Given the description of an element on the screen output the (x, y) to click on. 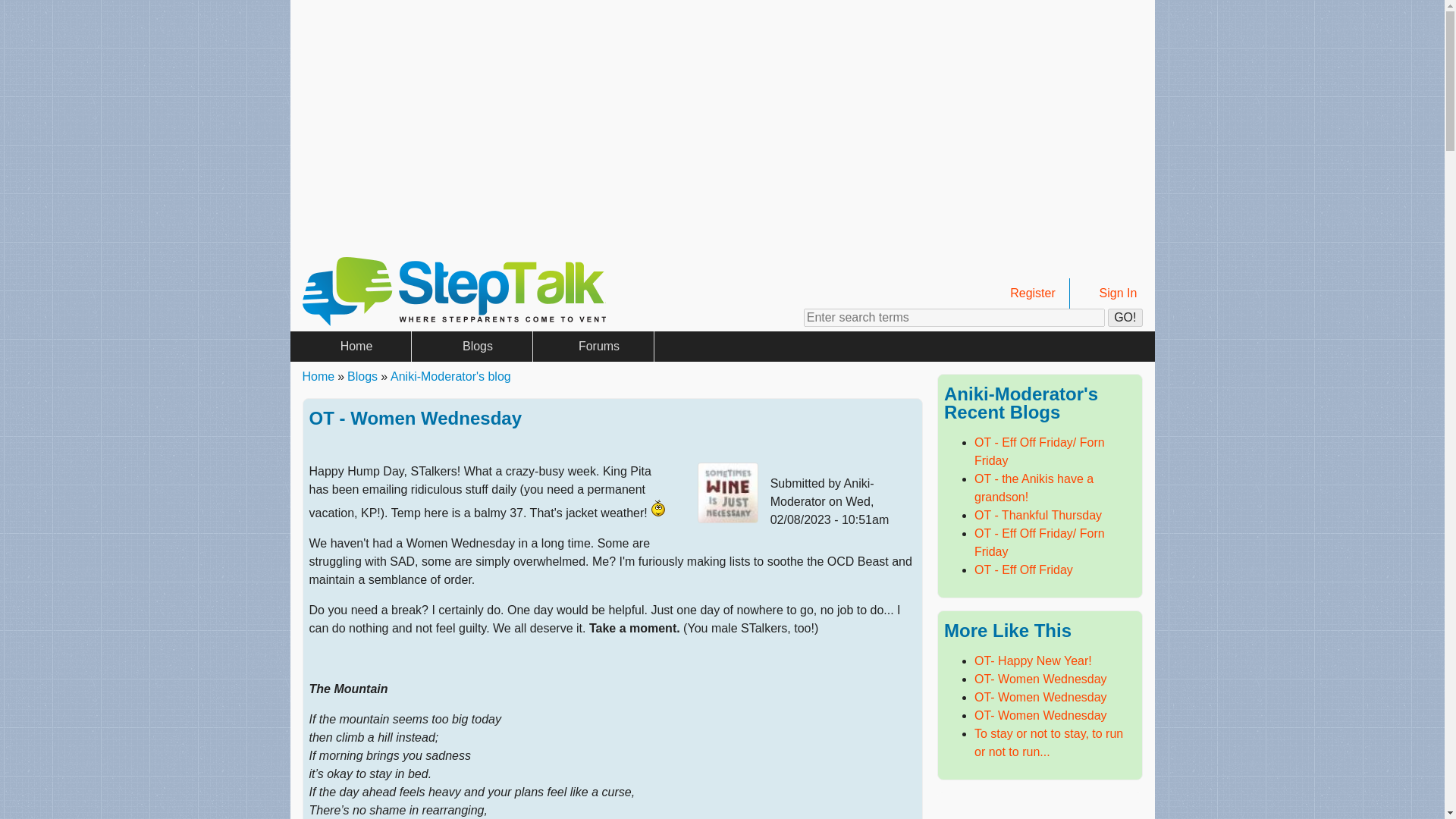
Blogs (362, 376)
Aniki-Moderator's blog (450, 376)
StepTalk Blogs (471, 346)
Blogs (471, 346)
Home (349, 346)
GO! (1124, 317)
Create an account (1026, 293)
Home (453, 321)
GO! (1124, 317)
Forums (592, 346)
Aniki-Moderator's picture (727, 492)
Enter the terms you wish to search for. (954, 317)
Register (1026, 293)
Sign In (1111, 293)
